Given the description of an element on the screen output the (x, y) to click on. 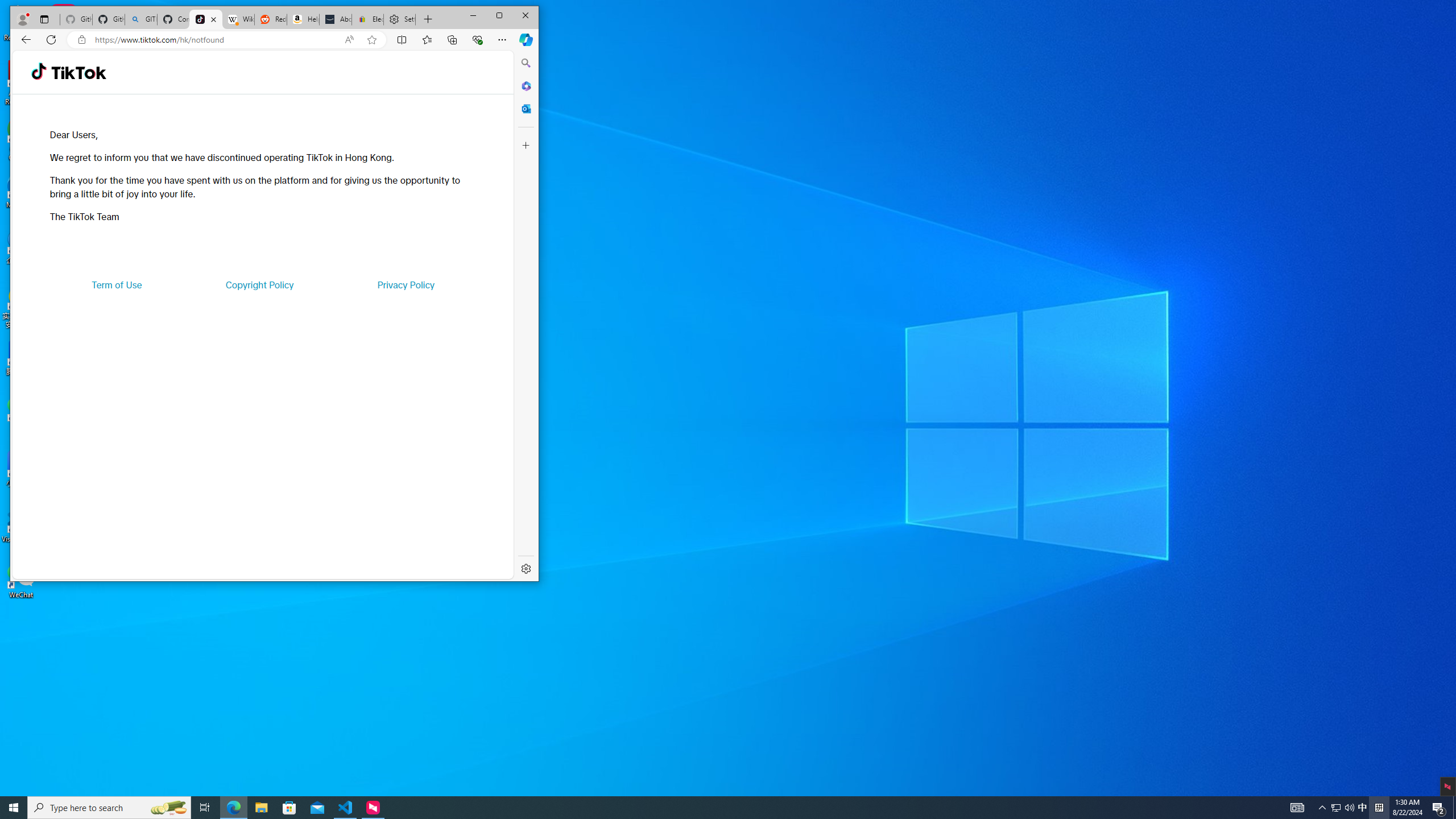
TikTok (78, 72)
Running applications (707, 807)
Task View (204, 807)
Wikipedia, the free encyclopedia (237, 19)
AutomationID: 4105 (1297, 807)
Maximize (499, 15)
Privacy Policy (405, 284)
TikTok (205, 19)
File Explorer (261, 807)
